Given the description of an element on the screen output the (x, y) to click on. 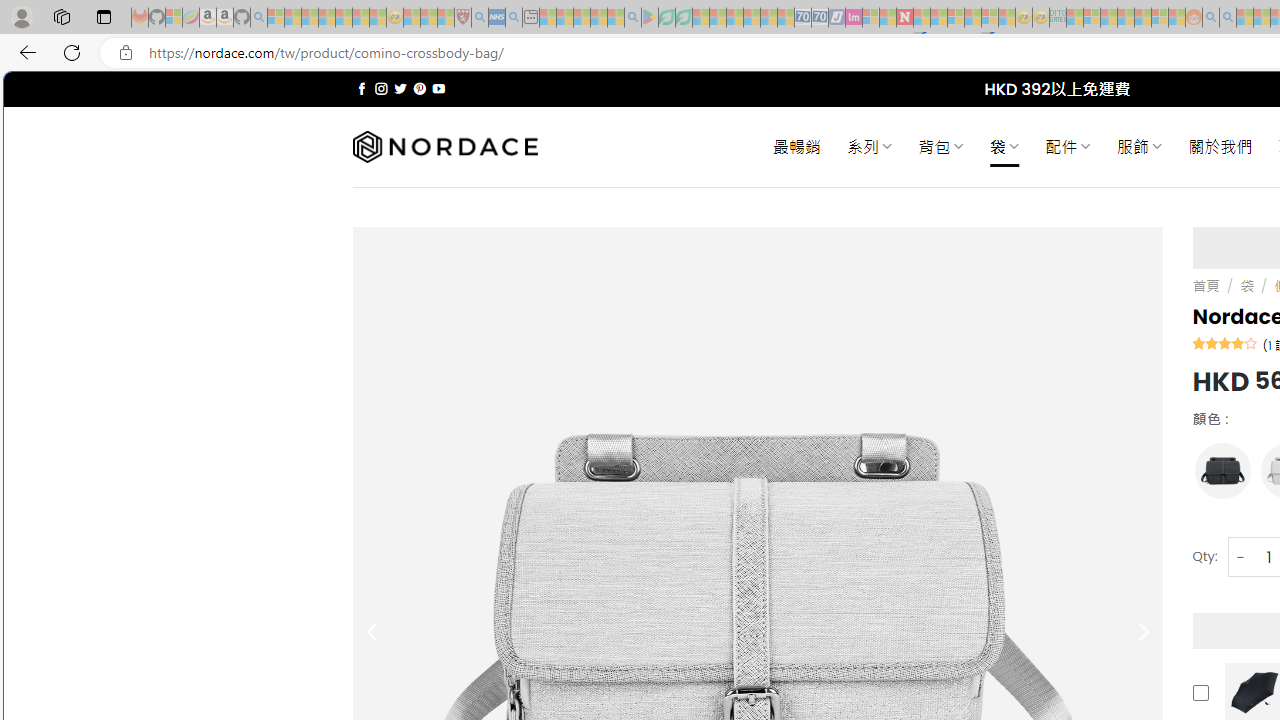
Follow on Pinterest (419, 88)
